Given the description of an element on the screen output the (x, y) to click on. 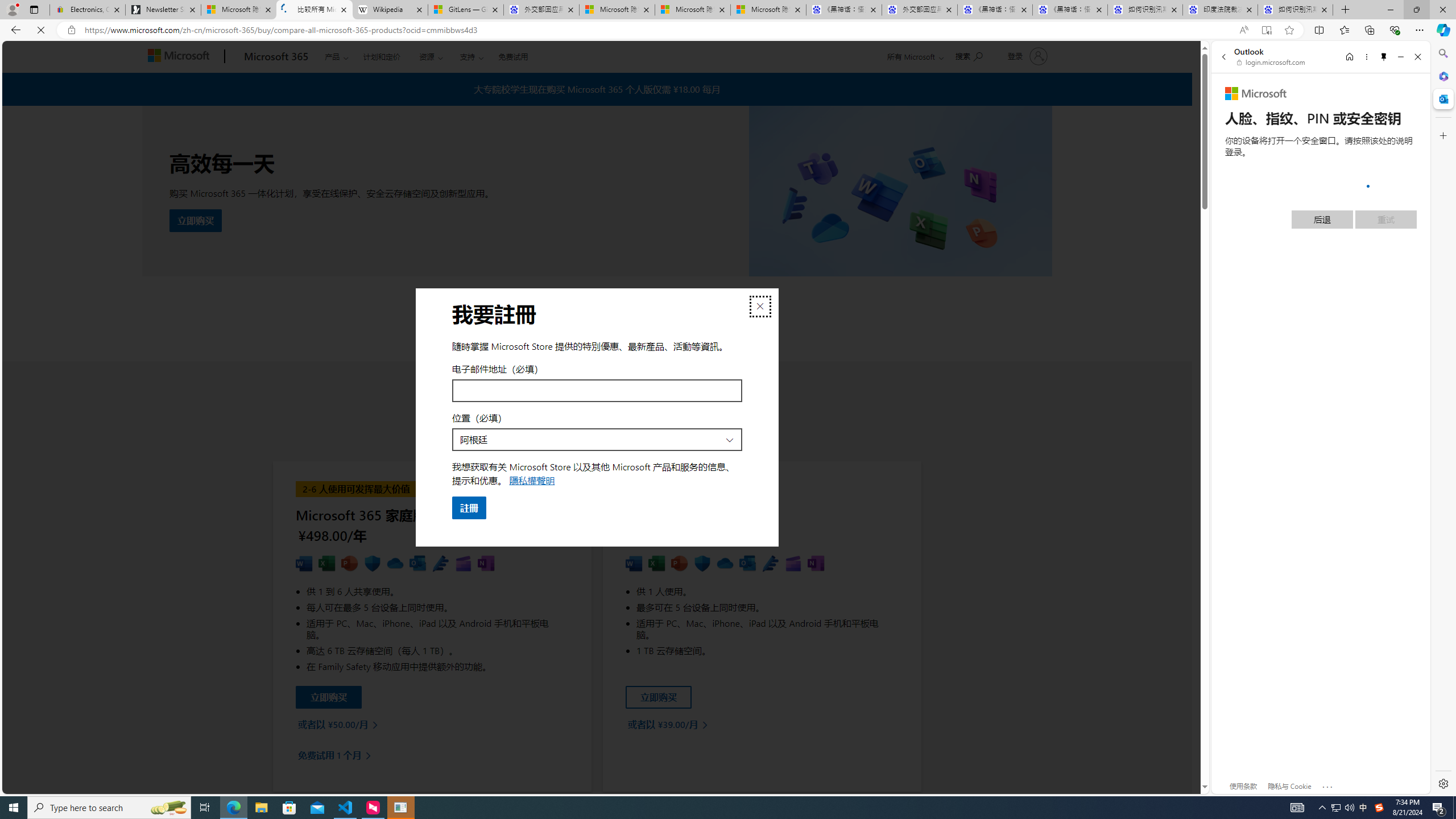
Electronics, Cars, Fashion, Collectibles & More | eBay (87, 9)
Enter Immersive Reader (F9) (1266, 29)
